Given the description of an element on the screen output the (x, y) to click on. 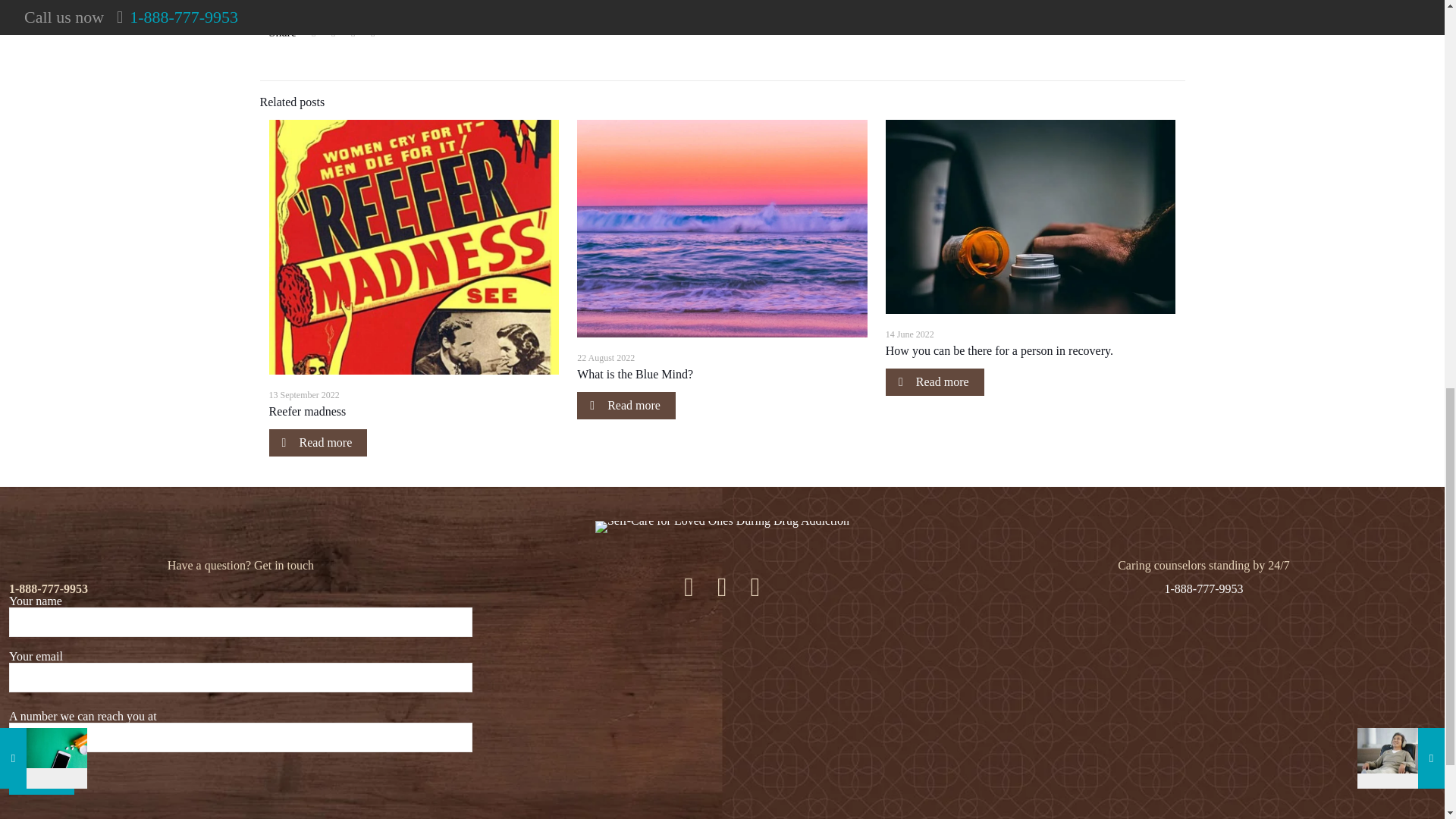
Submit (41, 779)
